Given the description of an element on the screen output the (x, y) to click on. 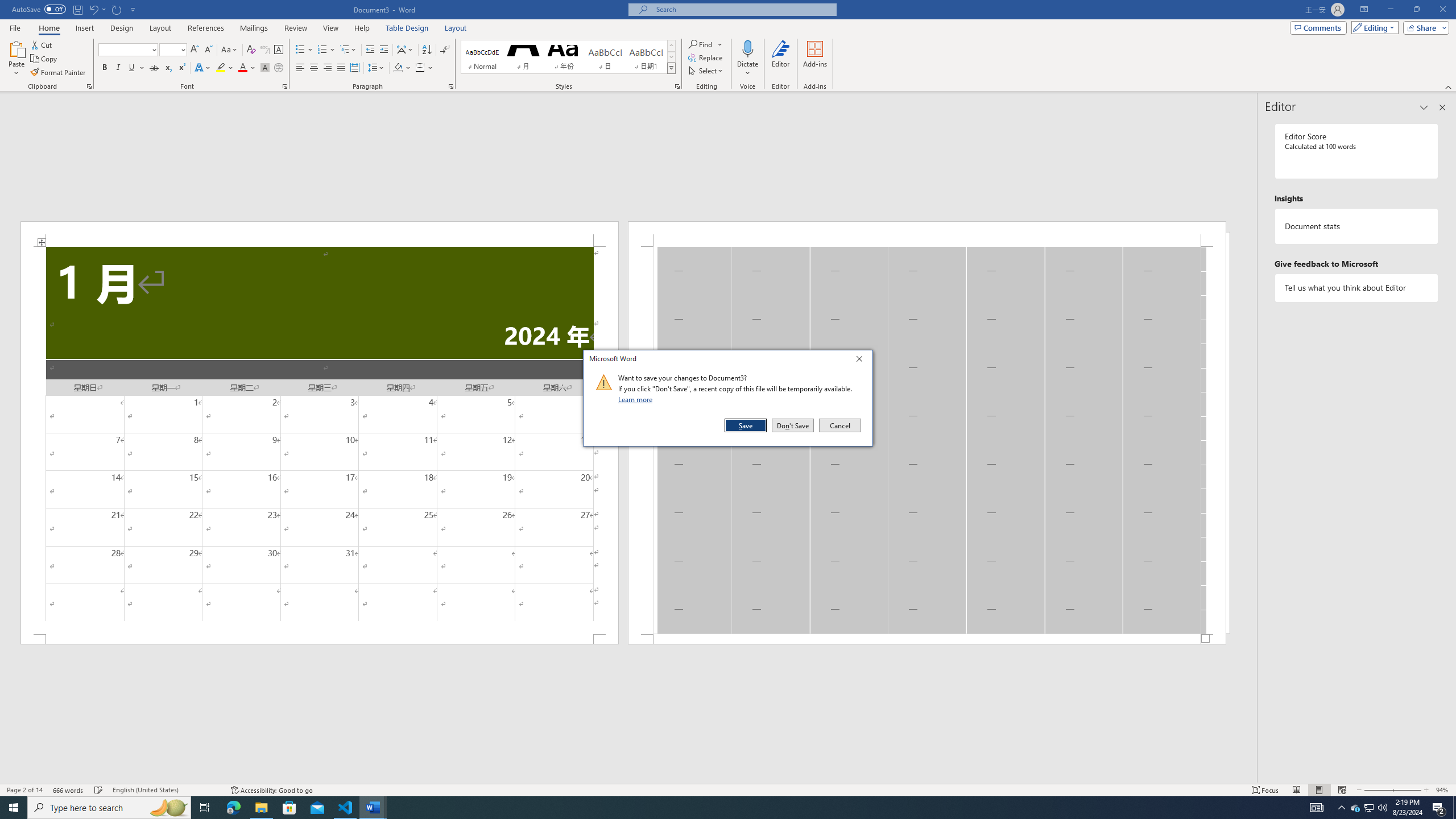
Repeat Style (117, 9)
